Given the description of an element on the screen output the (x, y) to click on. 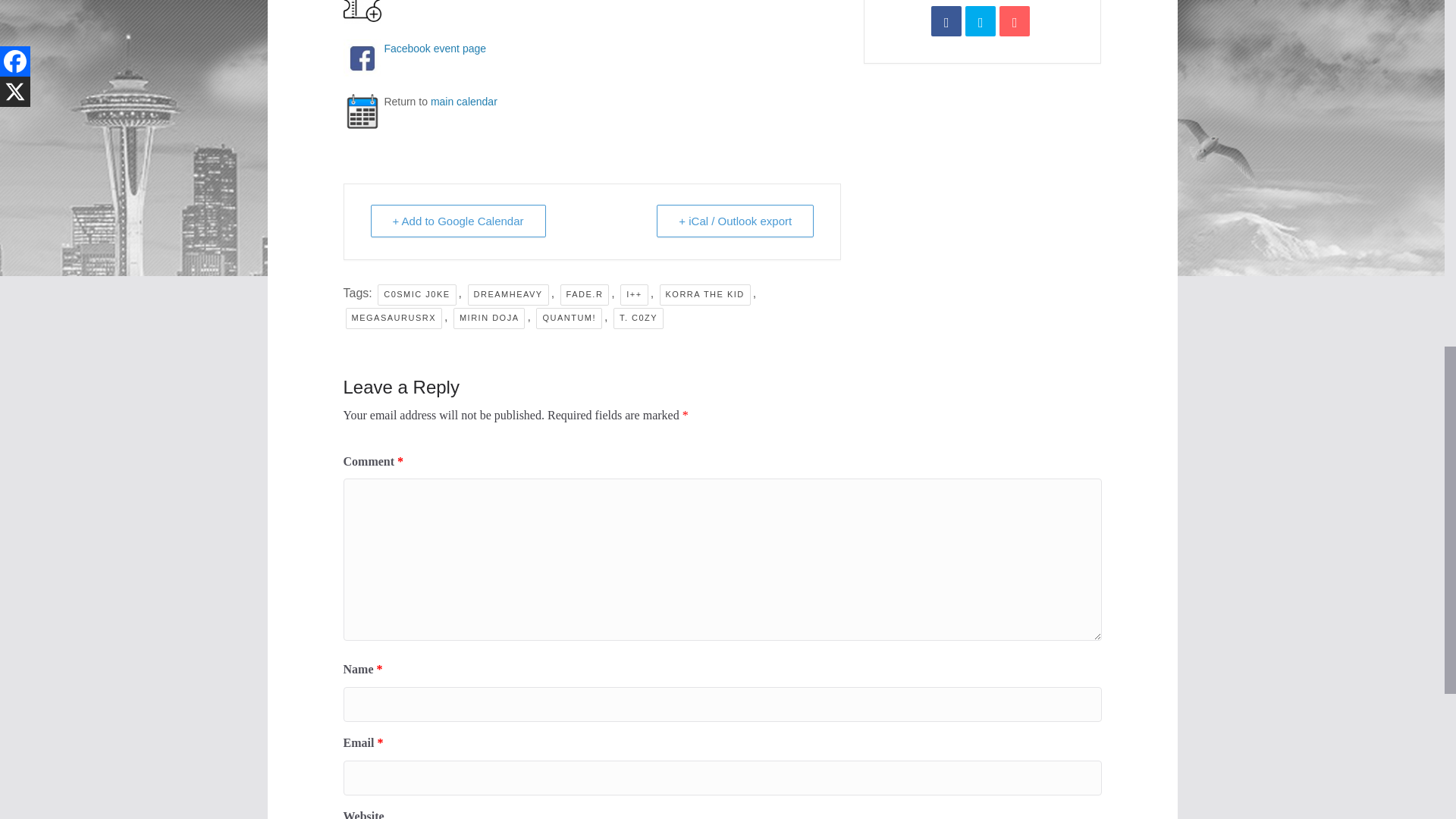
MIRIN DOJA (488, 318)
Tweet (980, 20)
QUANTUM! (568, 318)
Facebook event page (435, 48)
Share on Facebook (945, 20)
Purchase tickets (422, 0)
DREAMHEAVY (507, 294)
Email (1013, 20)
T. C0ZY (637, 318)
FADE.R (585, 294)
